Given the description of an element on the screen output the (x, y) to click on. 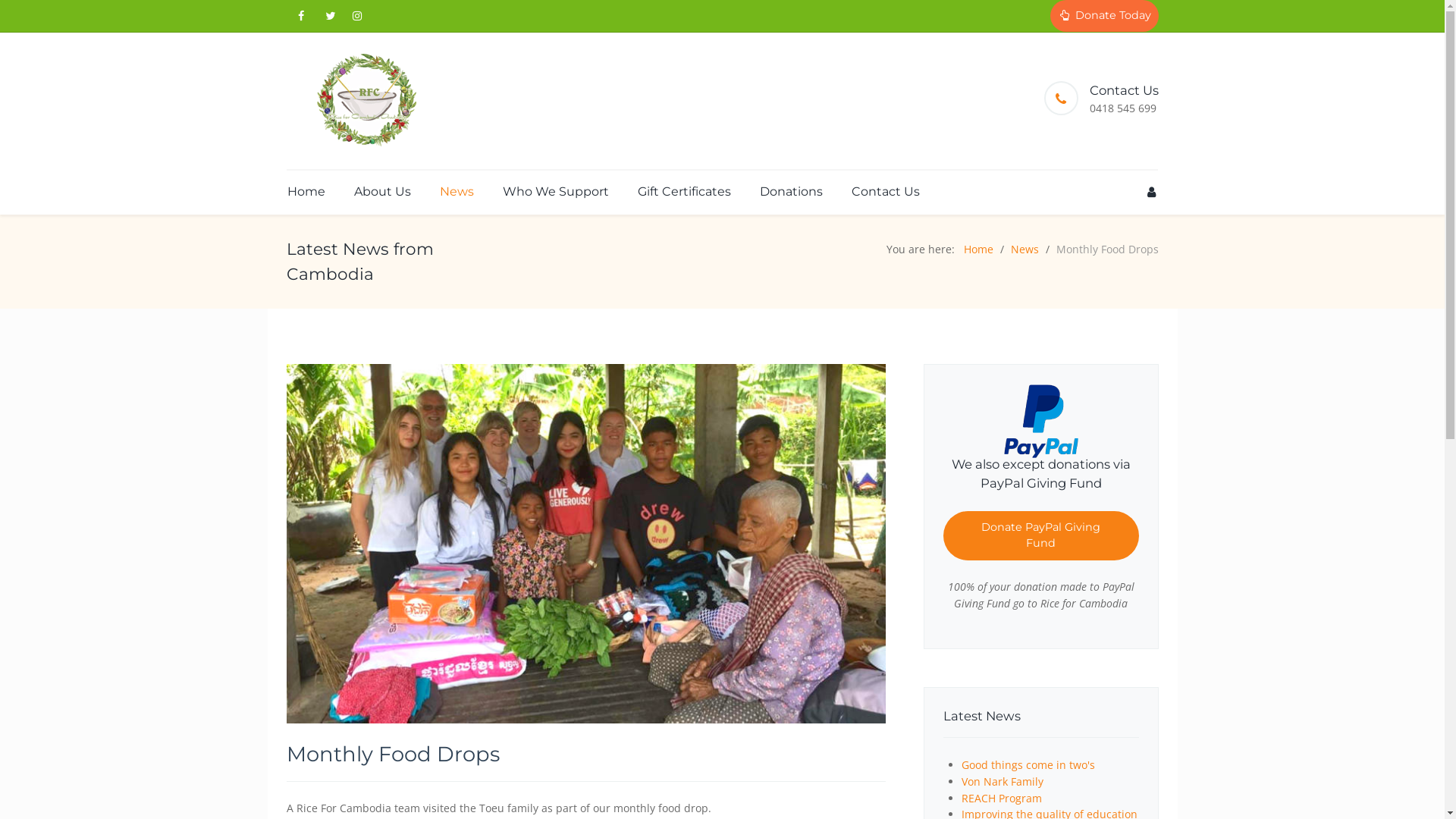
About Us Element type: text (382, 191)
Home Element type: text (977, 248)
Twitter coming soon Element type: hover (330, 15)
Donations Element type: text (790, 191)
Instagram Coming Soon Element type: hover (356, 15)
Contact Us Element type: text (878, 191)
Rice for Cambodia Element type: hover (364, 100)
Donate Today Element type: text (1104, 15)
REACH Program Element type: text (1001, 797)
Donate PayPal Giving Fund Element type: text (1041, 536)
Login Element type: hover (1150, 191)
News Element type: text (456, 191)
Follow us on Facebook Element type: hover (301, 15)
News Element type: text (1024, 248)
Von Nark Family Element type: text (1002, 781)
Who We Support Element type: text (555, 191)
Home Element type: text (306, 191)
Gift Certificates Element type: text (683, 191)
Good things come in two's Element type: text (1028, 764)
